Given the description of an element on the screen output the (x, y) to click on. 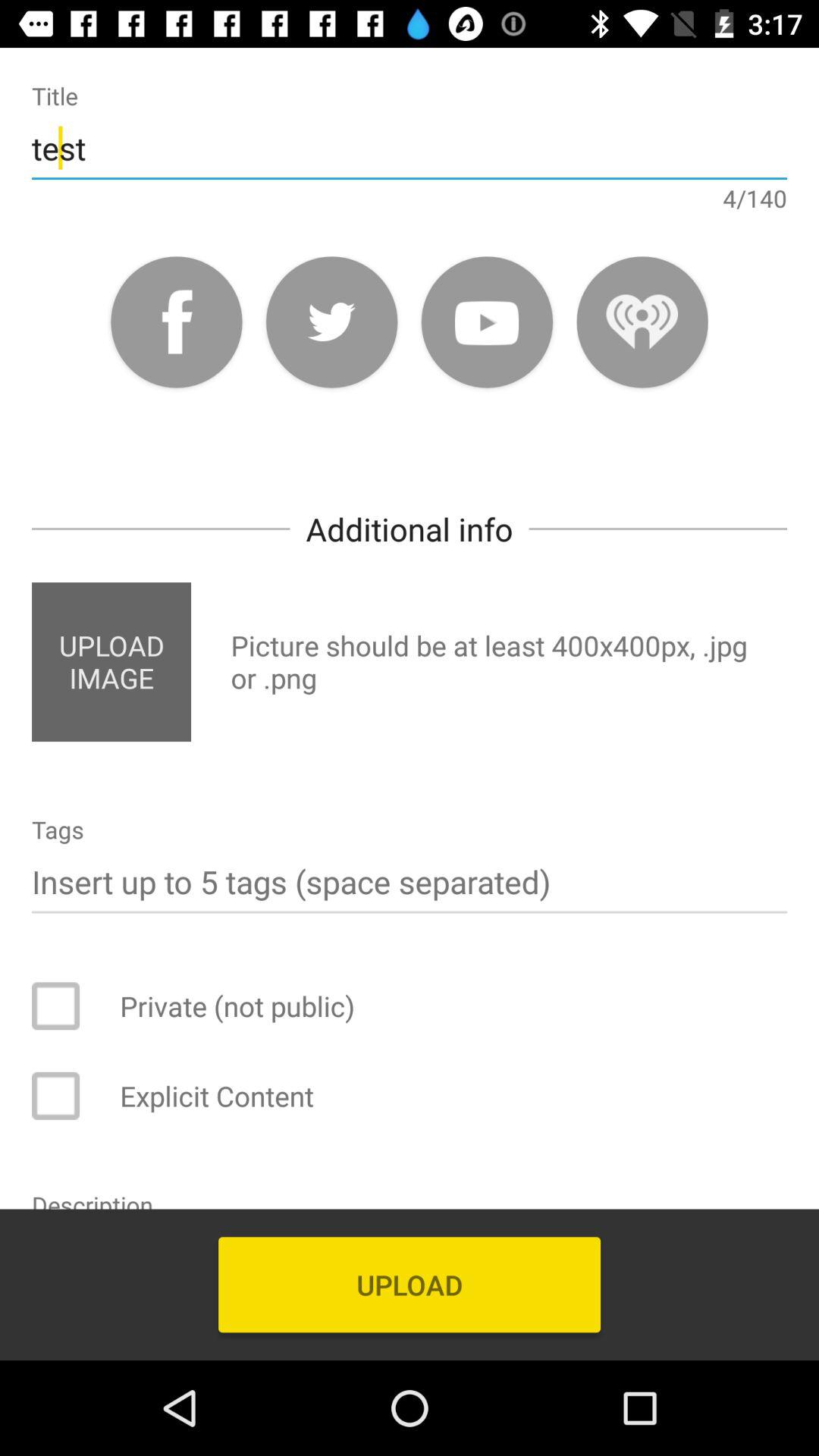
facebook link (176, 321)
